Given the description of an element on the screen output the (x, y) to click on. 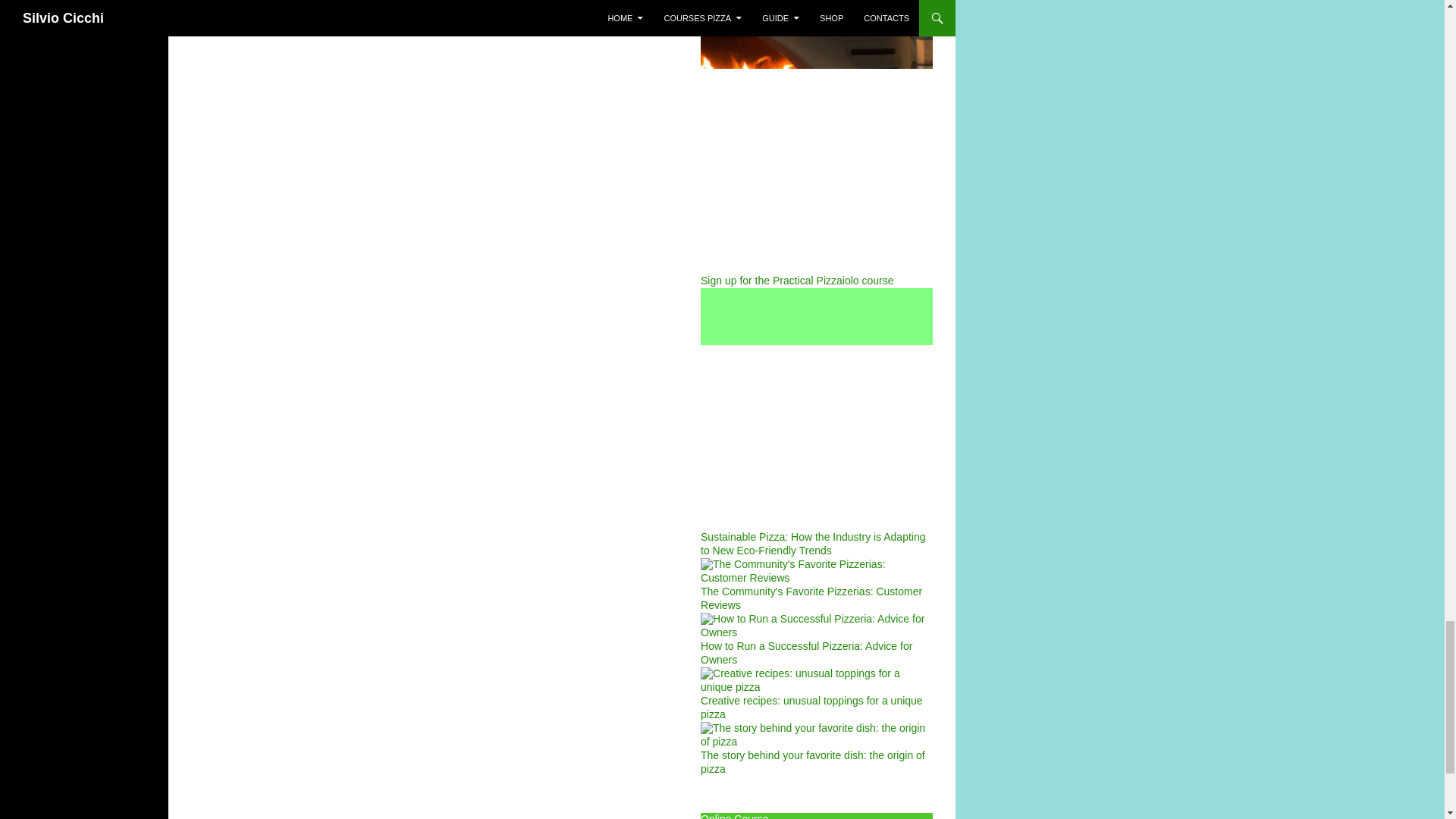
Creative recipes: unusual toppings for a unique pizza (816, 697)
How to Run a Successful Pizzeria: Advice for Owners (816, 642)
The story behind your favorite dish: the origin of pizza (816, 751)
The Community's Favorite Pizzerias: Customer Reviews (816, 587)
Sign up for the Practical Pizzaiolo course (816, 215)
